Given the description of an element on the screen output the (x, y) to click on. 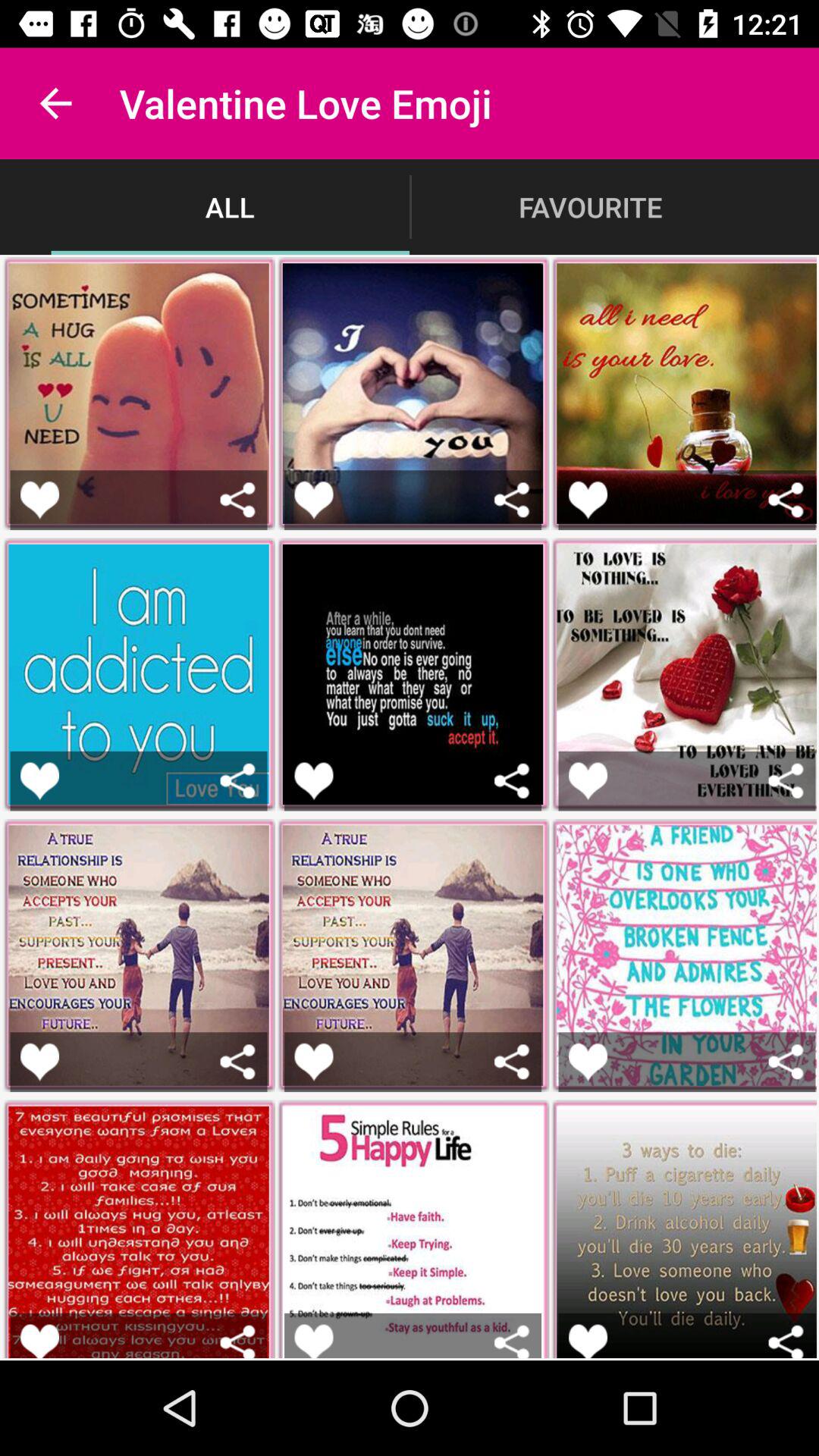
share the article (785, 1340)
